Given the description of an element on the screen output the (x, y) to click on. 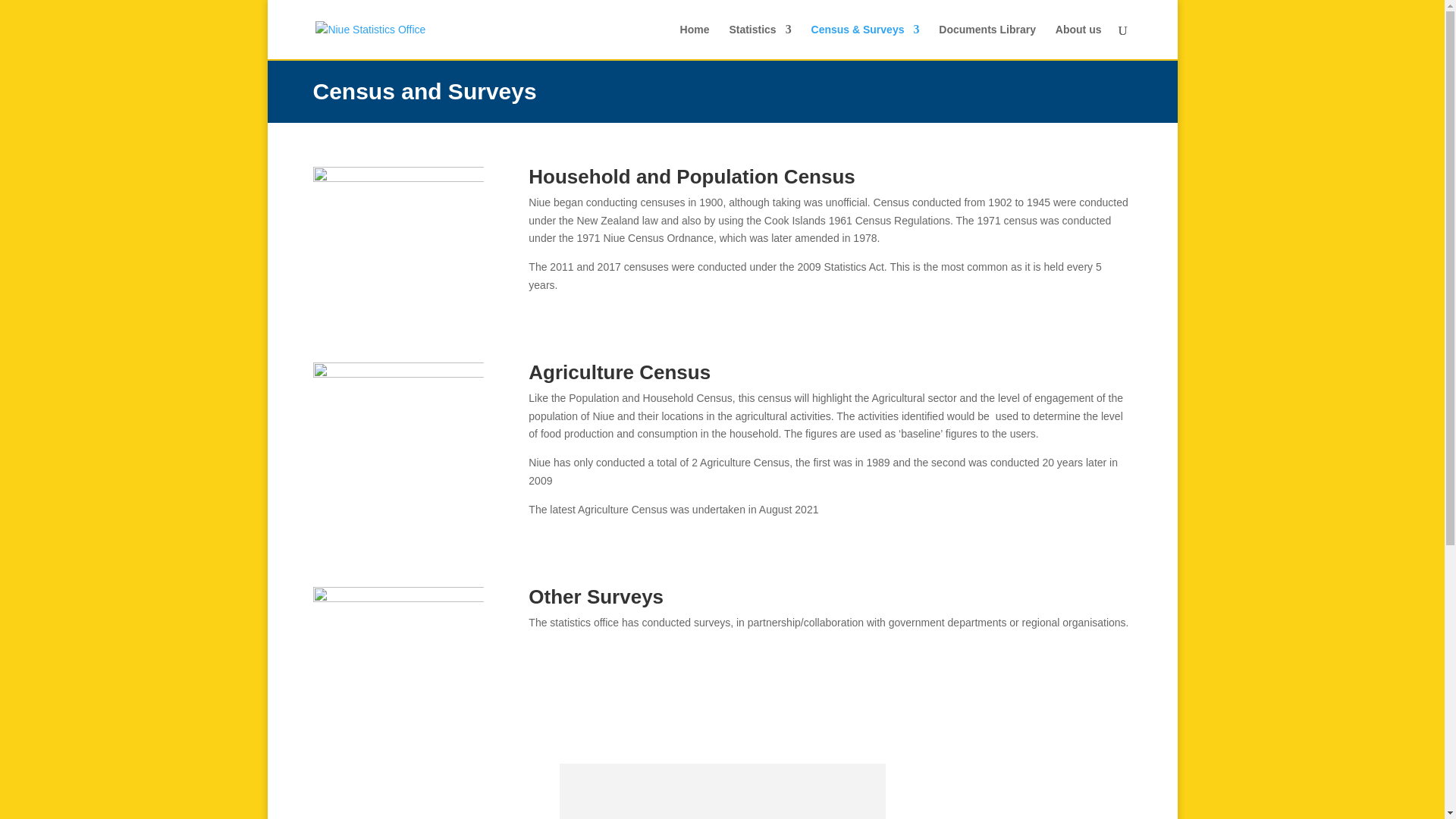
Household and Population Census (691, 176)
About us (1078, 41)
Agriculture Census (619, 372)
Statistics (759, 41)
People Right Side (398, 223)
Other Surveys (595, 596)
Documents Library (987, 41)
1552604414 286 Oceania Power To The People Talaniue (398, 635)
22140898 1248809255230665 1711955788346451771 N (398, 418)
